Given the description of an element on the screen output the (x, y) to click on. 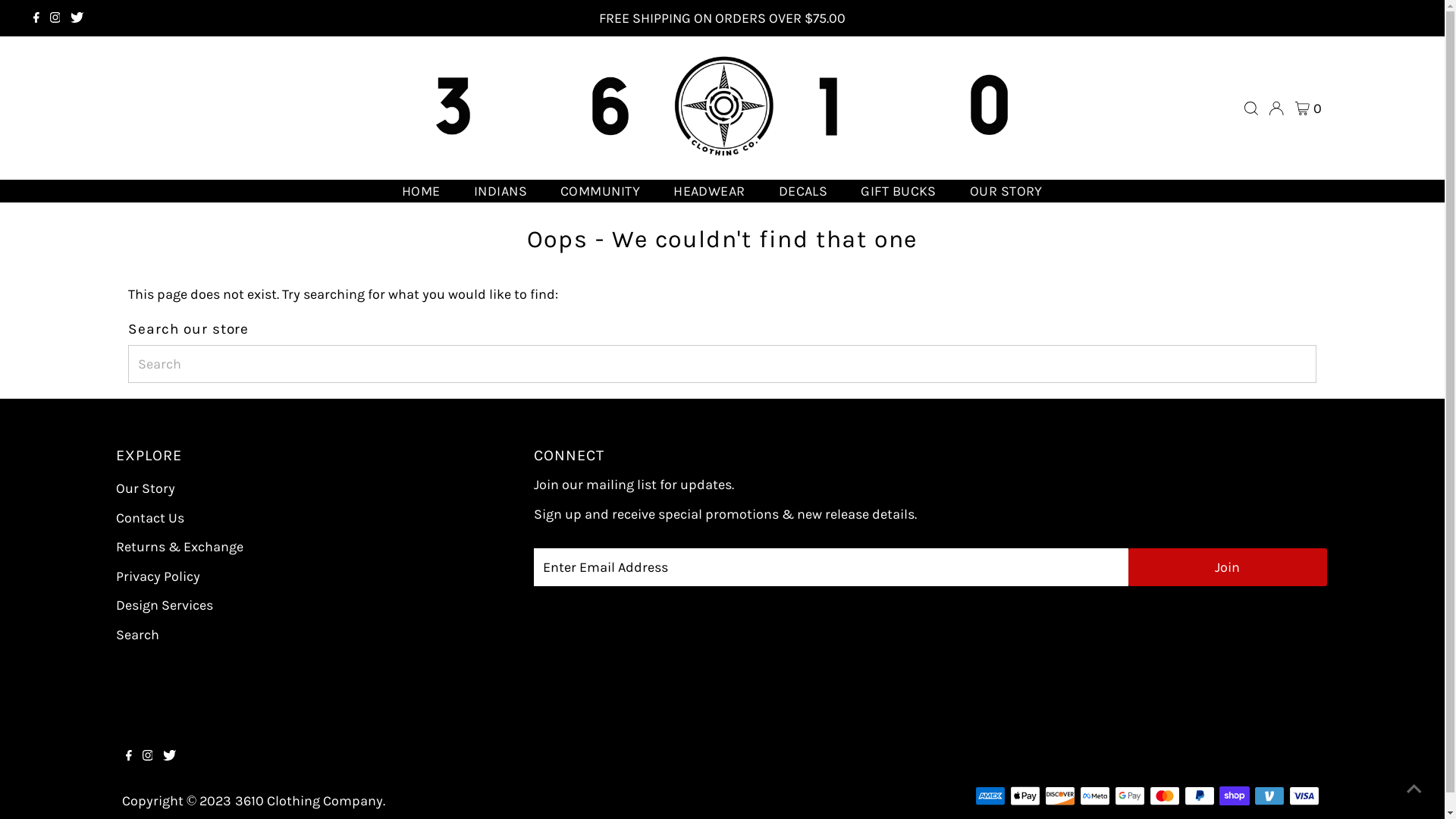
HOME Element type: text (420, 190)
COMMUNITY Element type: text (600, 190)
Our Story Element type: text (144, 488)
Search Element type: text (136, 634)
Join Element type: text (1227, 567)
Privacy Policy Element type: text (157, 575)
INDIANS Element type: text (500, 190)
HEADWEAR Element type: text (709, 190)
GIFT BUCKS Element type: text (898, 190)
Design Services Element type: text (163, 604)
DECALS Element type: text (803, 190)
0 Element type: text (1308, 108)
3610 Clothing Company Element type: text (308, 800)
Contact Us Element type: text (149, 517)
Returns & Exchange Element type: text (178, 546)
OUR STORY Element type: text (1005, 190)
